Given the description of an element on the screen output the (x, y) to click on. 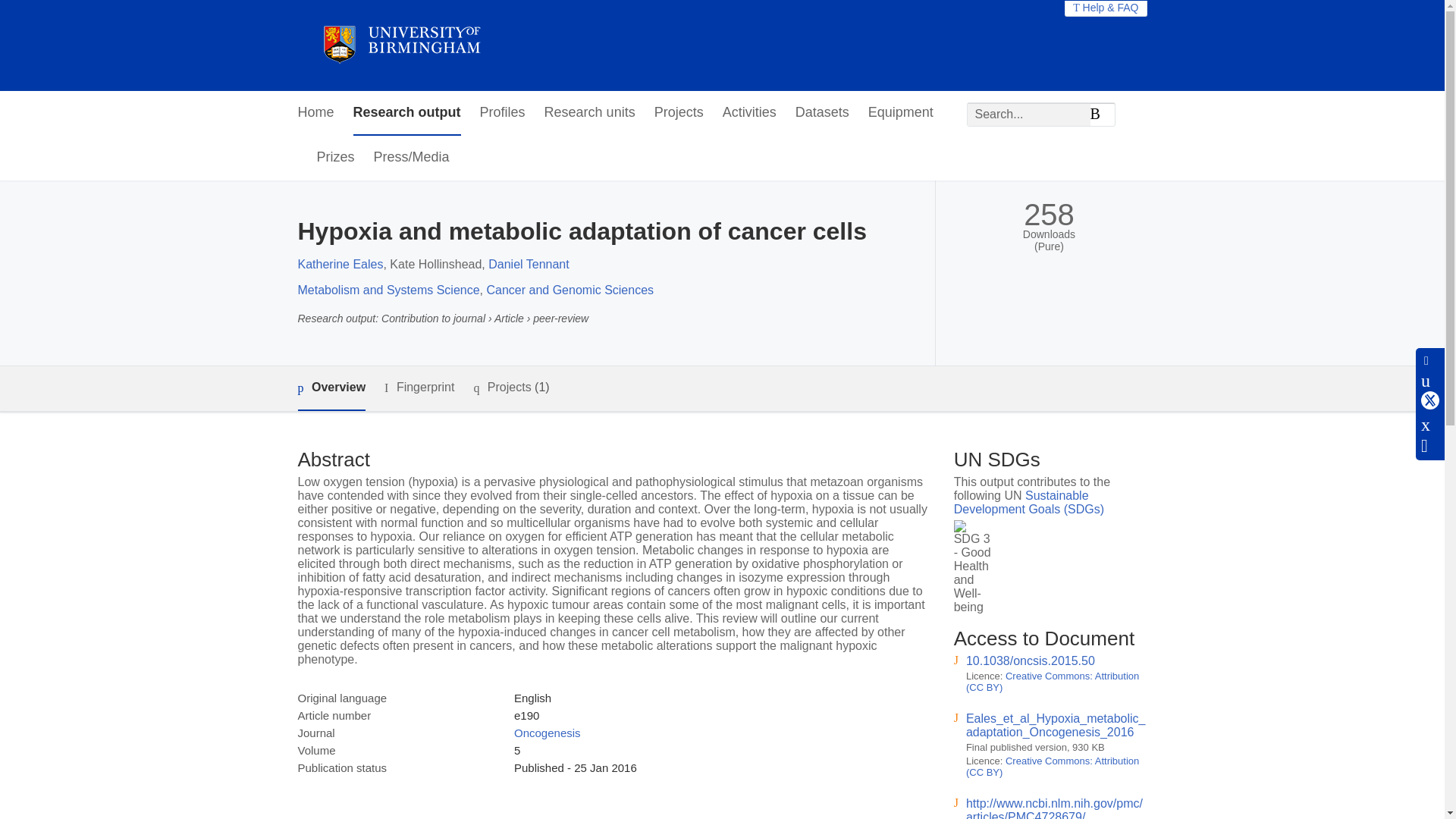
Daniel Tennant (528, 264)
University of Birmingham Home (401, 45)
Research output (407, 112)
Fingerprint (419, 387)
Katherine Eales (339, 264)
Activities (749, 112)
Equipment (900, 112)
Overview (331, 388)
Projects (678, 112)
Research units (589, 112)
